Given the description of an element on the screen output the (x, y) to click on. 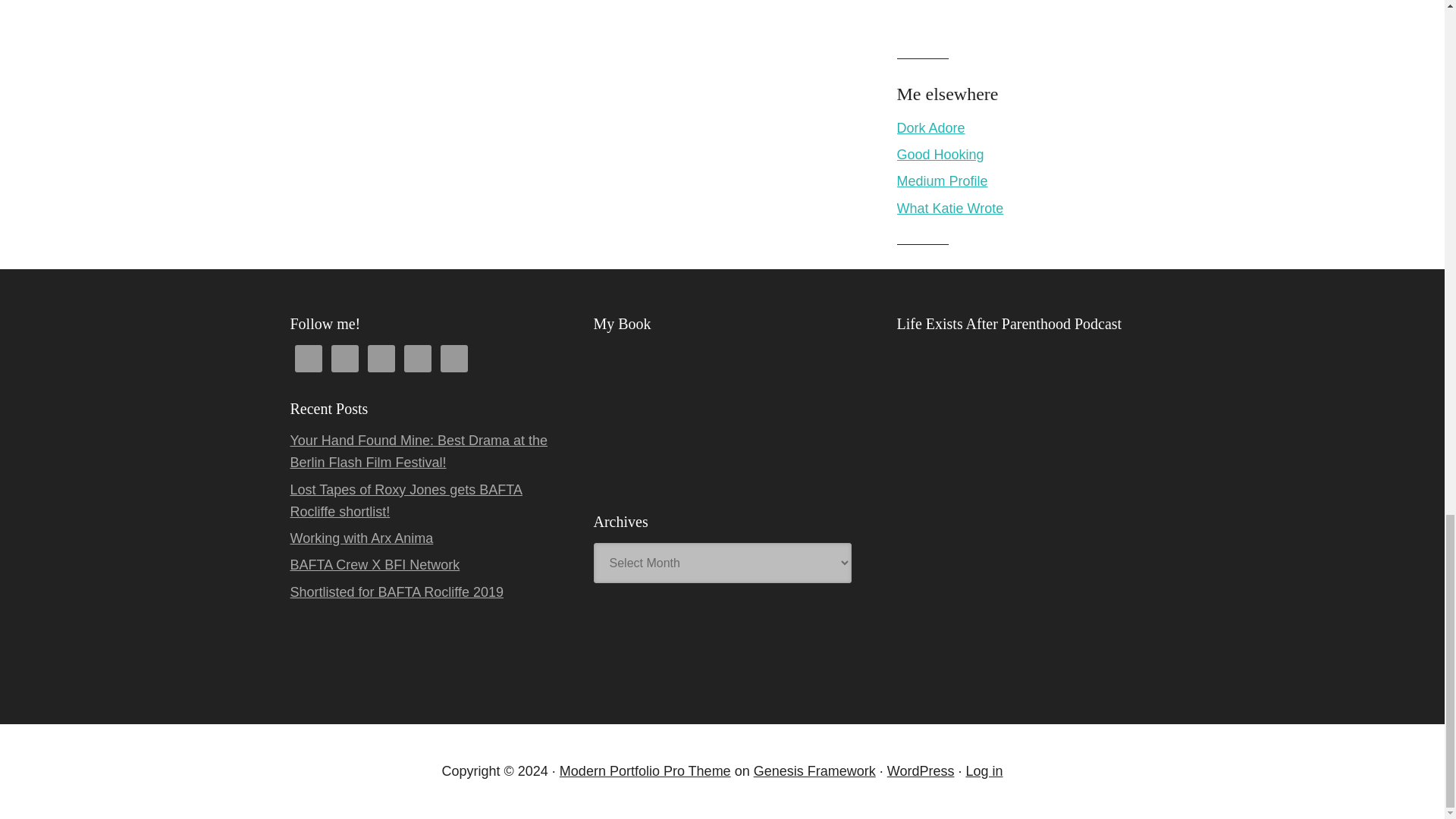
Medium Profile (941, 181)
Lovely things for Geeks (929, 127)
Lost Tapes of Roxy Jones gets BAFTA Rocliffe shortlist! (405, 500)
Modern Portfolio Pro Theme (644, 770)
Working with Arx Anima (360, 538)
Good Hooking (940, 154)
What Katie Wrote (949, 208)
Shortlisted for BAFTA Rocliffe 2019 (395, 591)
Wibbles for pay (949, 208)
